Given the description of an element on the screen output the (x, y) to click on. 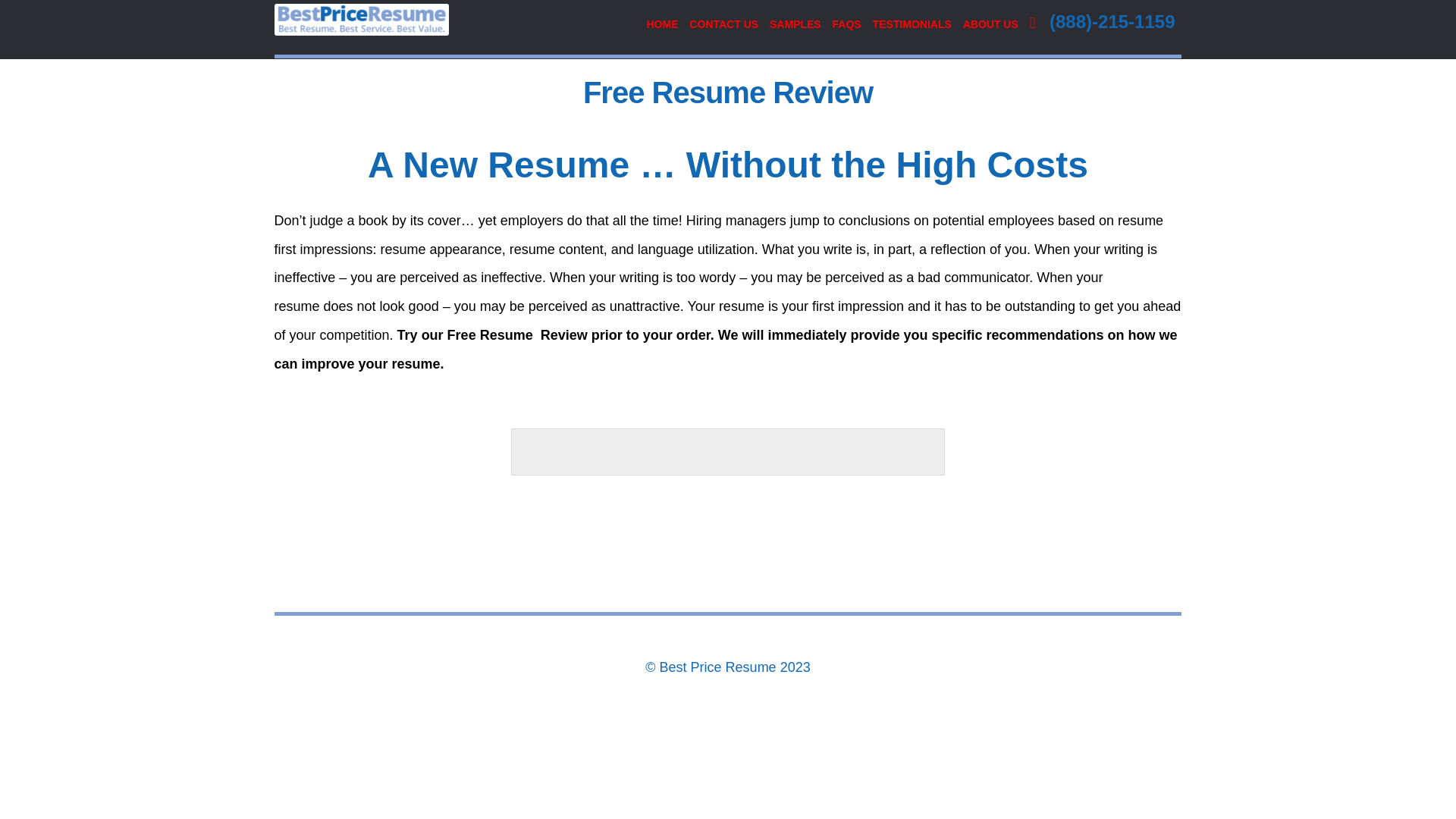
ABOUT US (990, 24)
TESTIMONIALS (911, 24)
FAQS (846, 24)
HOME (662, 24)
CONTACT US (723, 24)
SAMPLES (795, 24)
